Given the description of an element on the screen output the (x, y) to click on. 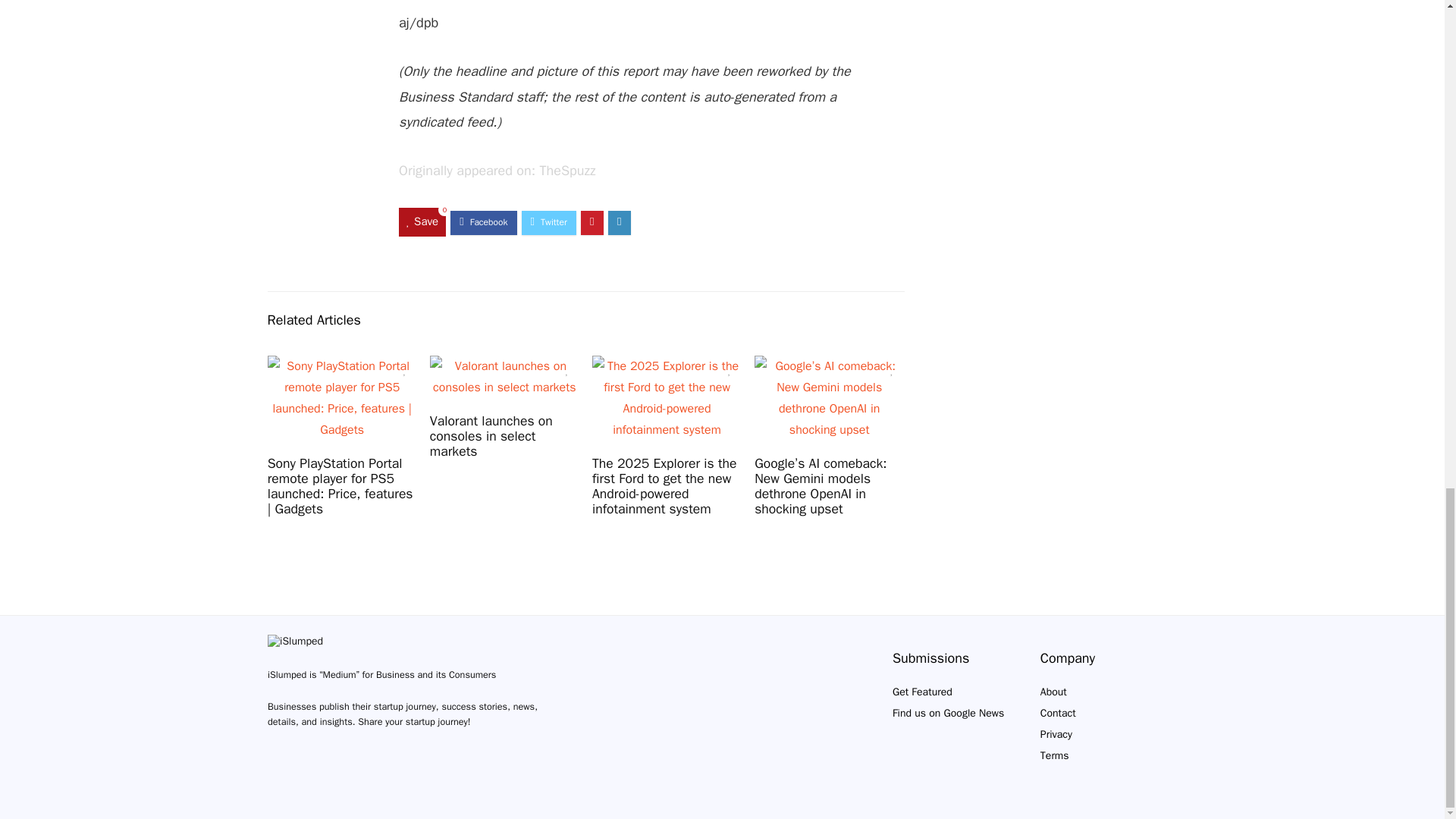
TheSpuzz (567, 170)
Get Featured (922, 691)
About (1054, 691)
Find us on Google News (948, 712)
Valorant launches on consoles in select markets (491, 435)
